Given the description of an element on the screen output the (x, y) to click on. 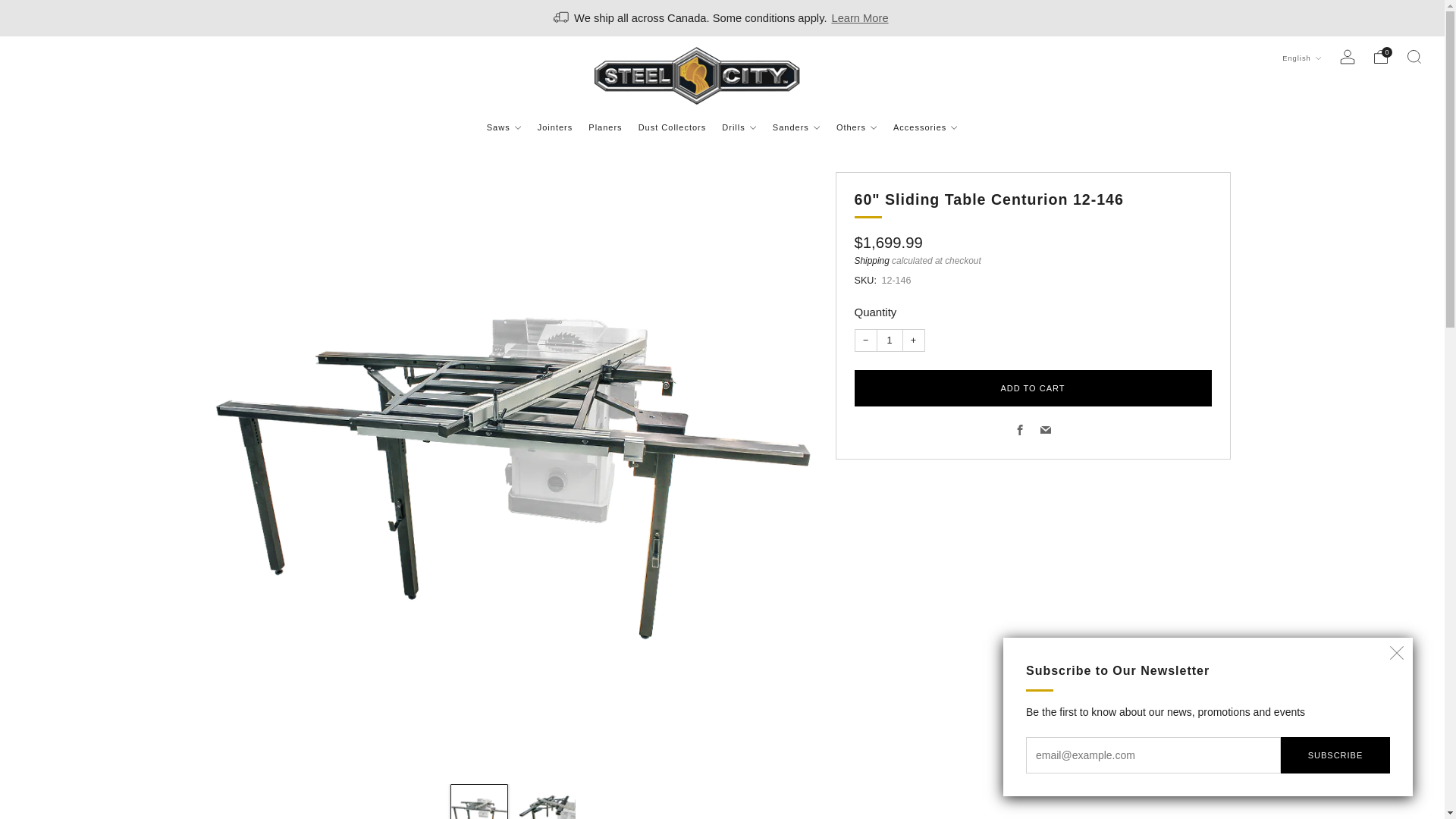
Dust Collectors (672, 127)
Drills (738, 127)
1 (889, 340)
Jointers (555, 127)
Saws (503, 127)
Learn More (859, 18)
Others (856, 127)
Accessories (925, 127)
Planers (604, 127)
Sanders (797, 127)
